Given the description of an element on the screen output the (x, y) to click on. 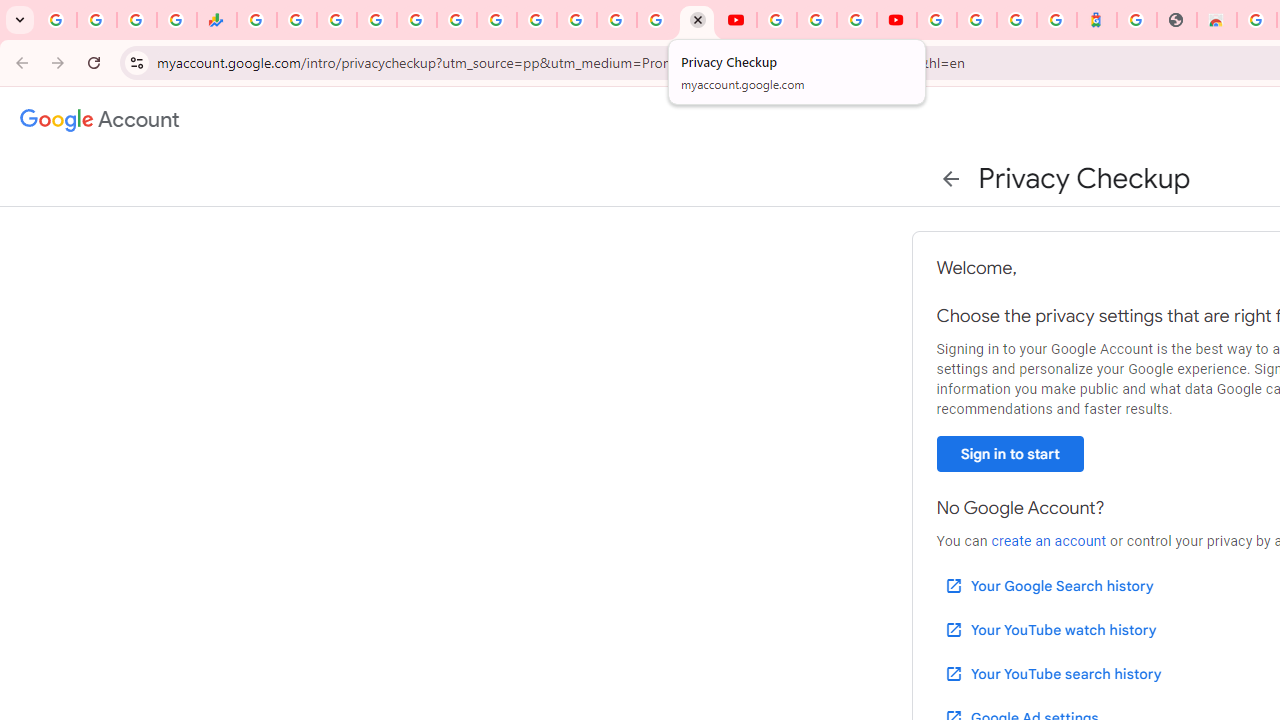
Create your Google Account (856, 20)
Google Account Help (817, 20)
Your YouTube search history (1052, 673)
Google Account settings (100, 120)
Privacy Checkup (696, 20)
Your YouTube watch history (1049, 630)
